Given the description of an element on the screen output the (x, y) to click on. 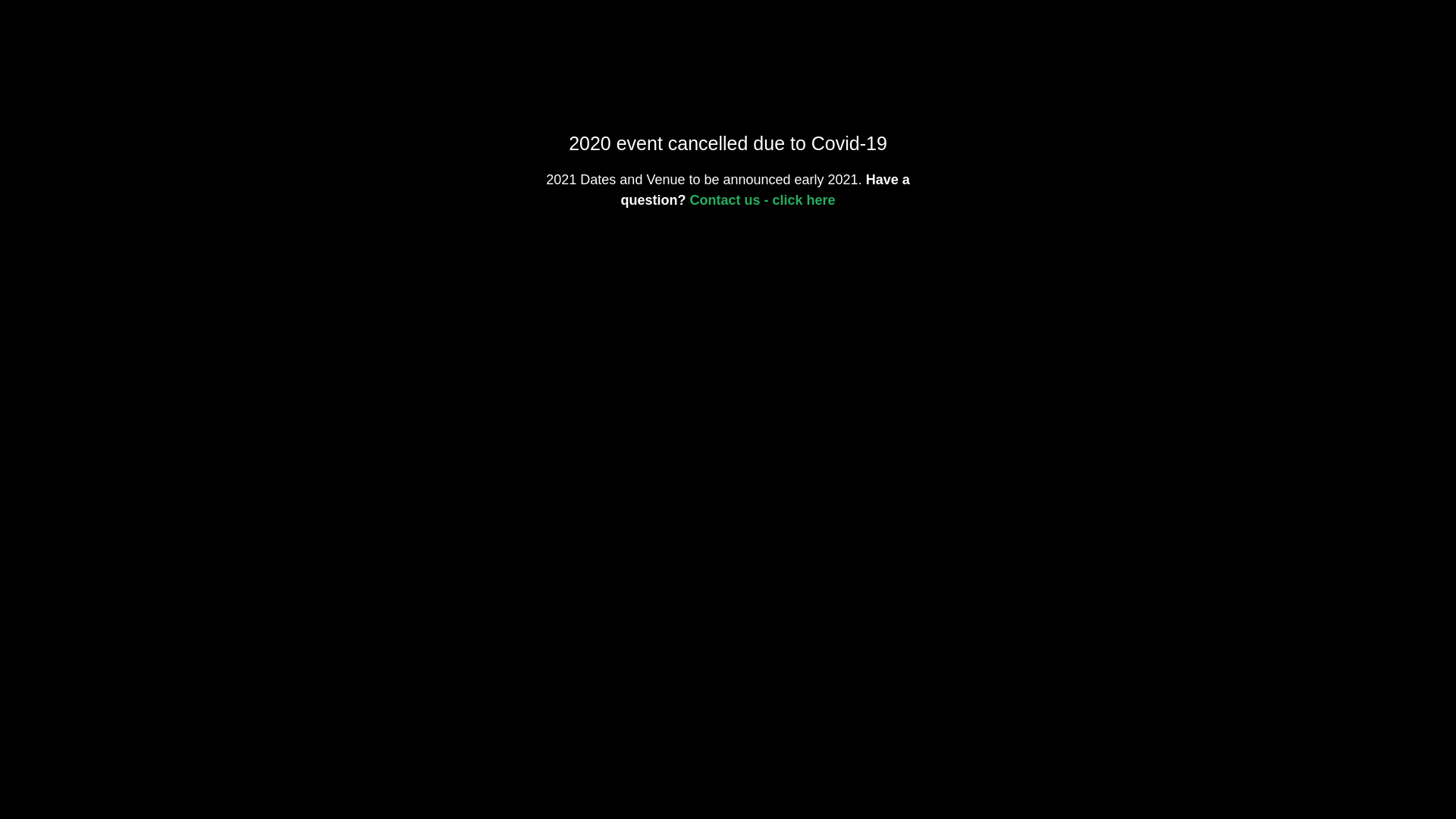
Contact us - click here Element type: text (761, 199)
